Given the description of an element on the screen output the (x, y) to click on. 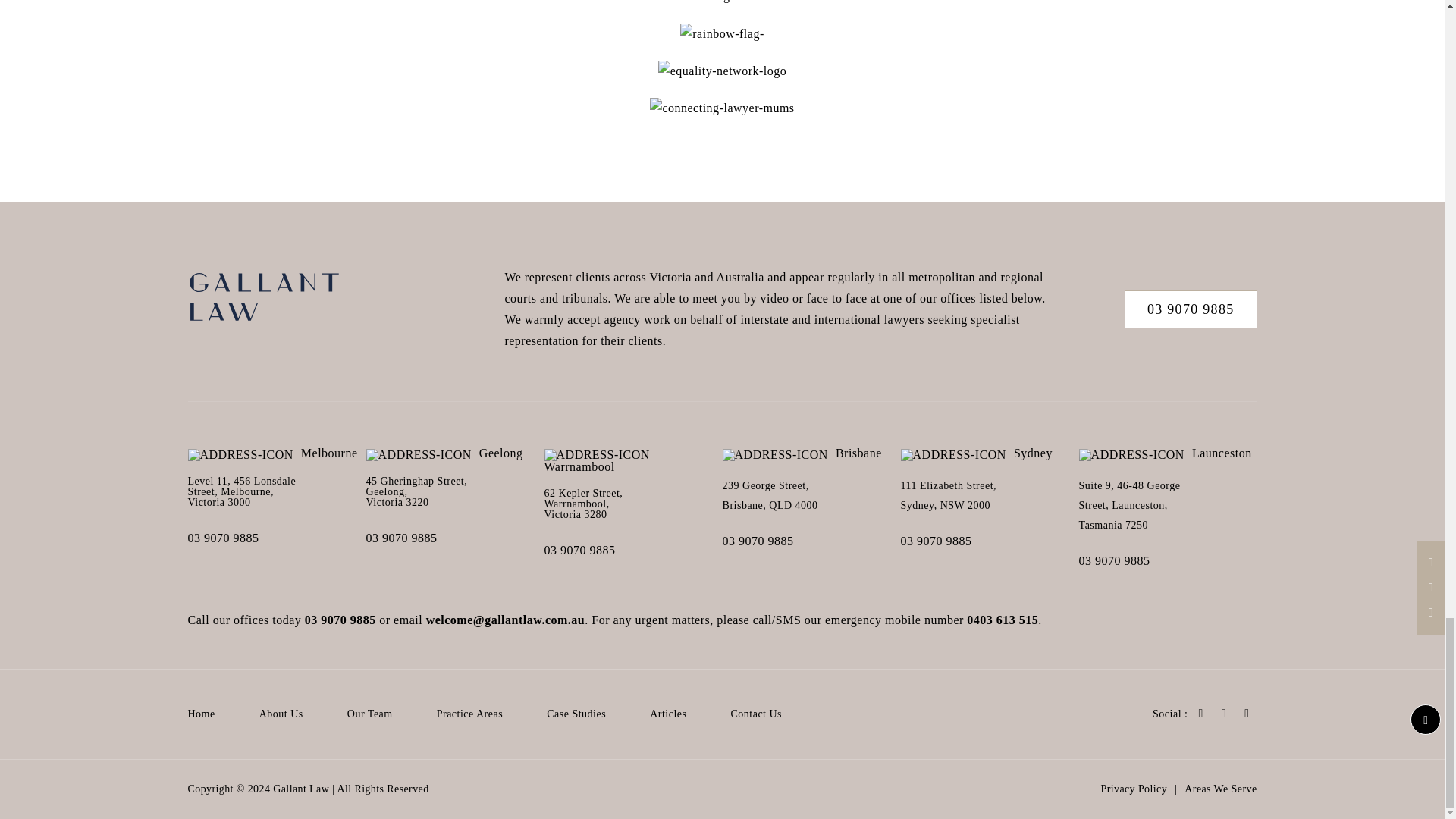
connecting-lawyer-mums (721, 107)
rainbow-flag- (720, 34)
address-icon (418, 454)
equality-network-logo (722, 70)
address-icon (240, 454)
flag-01 (722, 3)
